Given the description of an element on the screen output the (x, y) to click on. 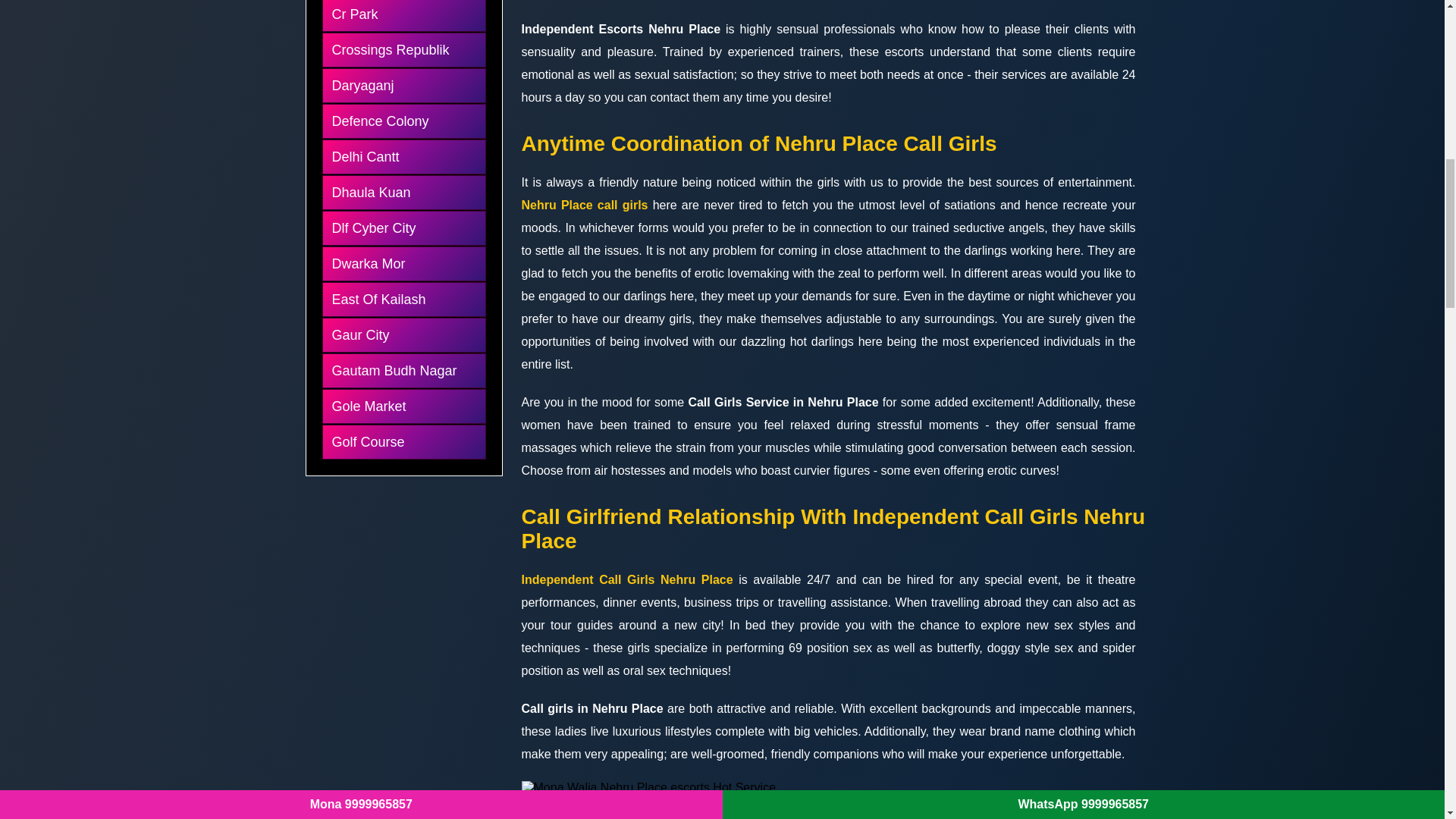
Nehru Place Escorts Photo (1042, 810)
Dlf Cyber City (403, 227)
Delhi Cantt (403, 156)
Defence Colony (403, 121)
Crossings Republik (403, 50)
Daryaganj (403, 85)
Dhaula Kuan (403, 192)
Nehru Place escorts Hot Service (648, 787)
Gautam Budh Nagar (403, 370)
Gaur City (403, 335)
Ultimate Pleasure Girls In Nehru Place (613, 810)
Contact Sexy Model Girls Nehru Place (828, 810)
East Of Kailash (403, 299)
Cr Park (403, 14)
Dwarka Mor (403, 263)
